Given the description of an element on the screen output the (x, y) to click on. 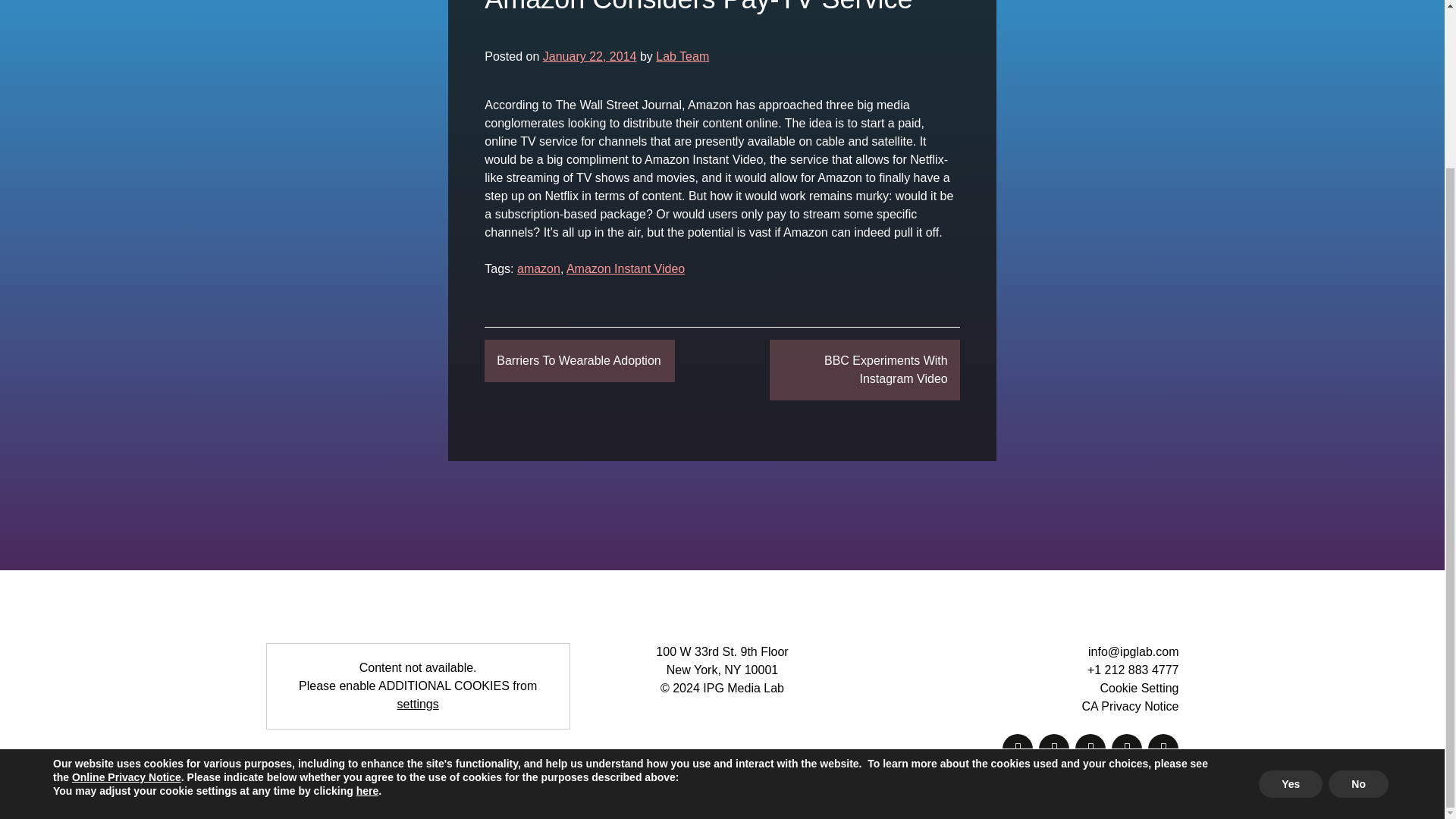
Lab Team (682, 56)
No (1358, 583)
CA Privacy Notice (1129, 706)
Yes (1290, 583)
Twitter (1090, 748)
amazon (538, 268)
Barriers To Wearable Adoption (579, 360)
January 22, 2014 (590, 56)
Instagram (1126, 748)
BBC Experiments With Instagram Video (864, 369)
